Given the description of an element on the screen output the (x, y) to click on. 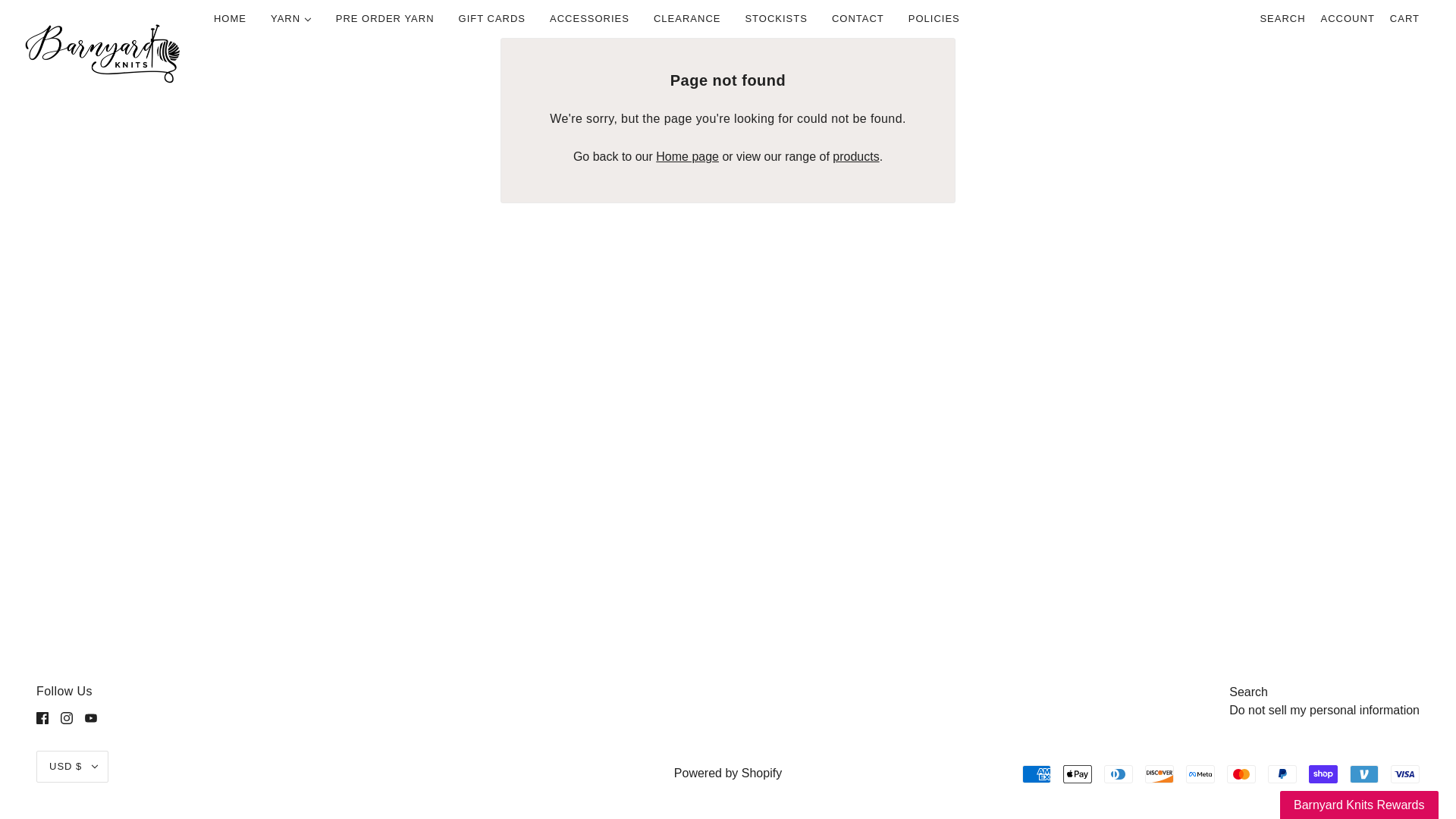
PayPal (1282, 773)
Meta Pay (1200, 773)
Shop Pay (1323, 773)
Do not sell my personal information (1323, 709)
SEARCH (1282, 18)
HOME (230, 18)
CLEARANCE (687, 18)
Powered by Shopify (727, 772)
POLICIES (934, 18)
GIFT CARDS (492, 18)
CONTACT (857, 18)
Visa (1404, 773)
Apple Pay (1077, 773)
Search (1248, 691)
Discover (1158, 773)
